Given the description of an element on the screen output the (x, y) to click on. 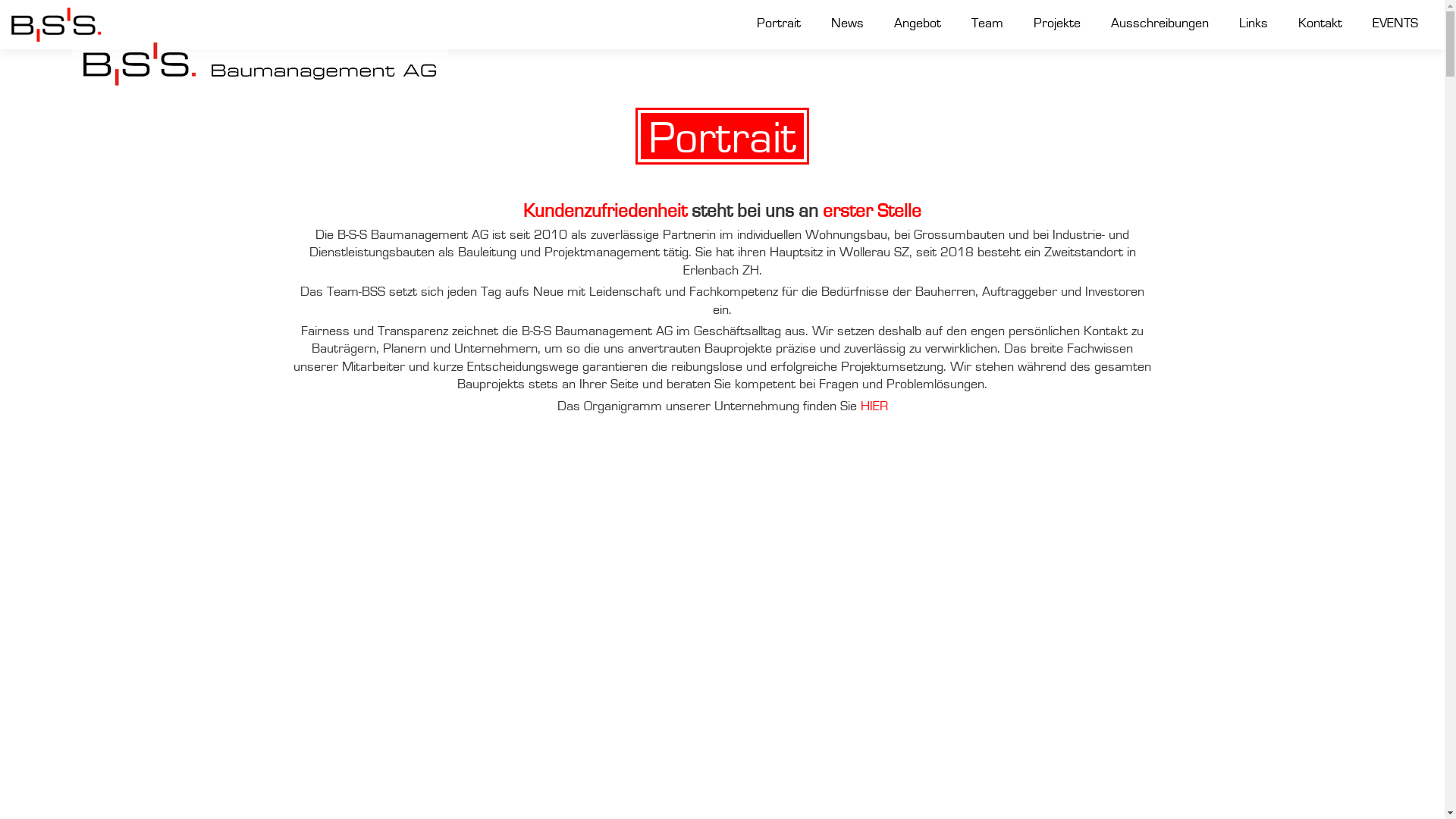
EVENTS Element type: text (1395, 23)
Ausschreibungen Element type: text (1159, 23)
Angebot Element type: text (917, 23)
Links Element type: text (1253, 23)
HIER Element type: text (873, 406)
News Element type: text (846, 23)
Kontakt Element type: text (1320, 23)
Projekte Element type: text (1056, 23)
Portrait Element type: text (778, 23)
Team Element type: text (987, 23)
